Given the description of an element on the screen output the (x, y) to click on. 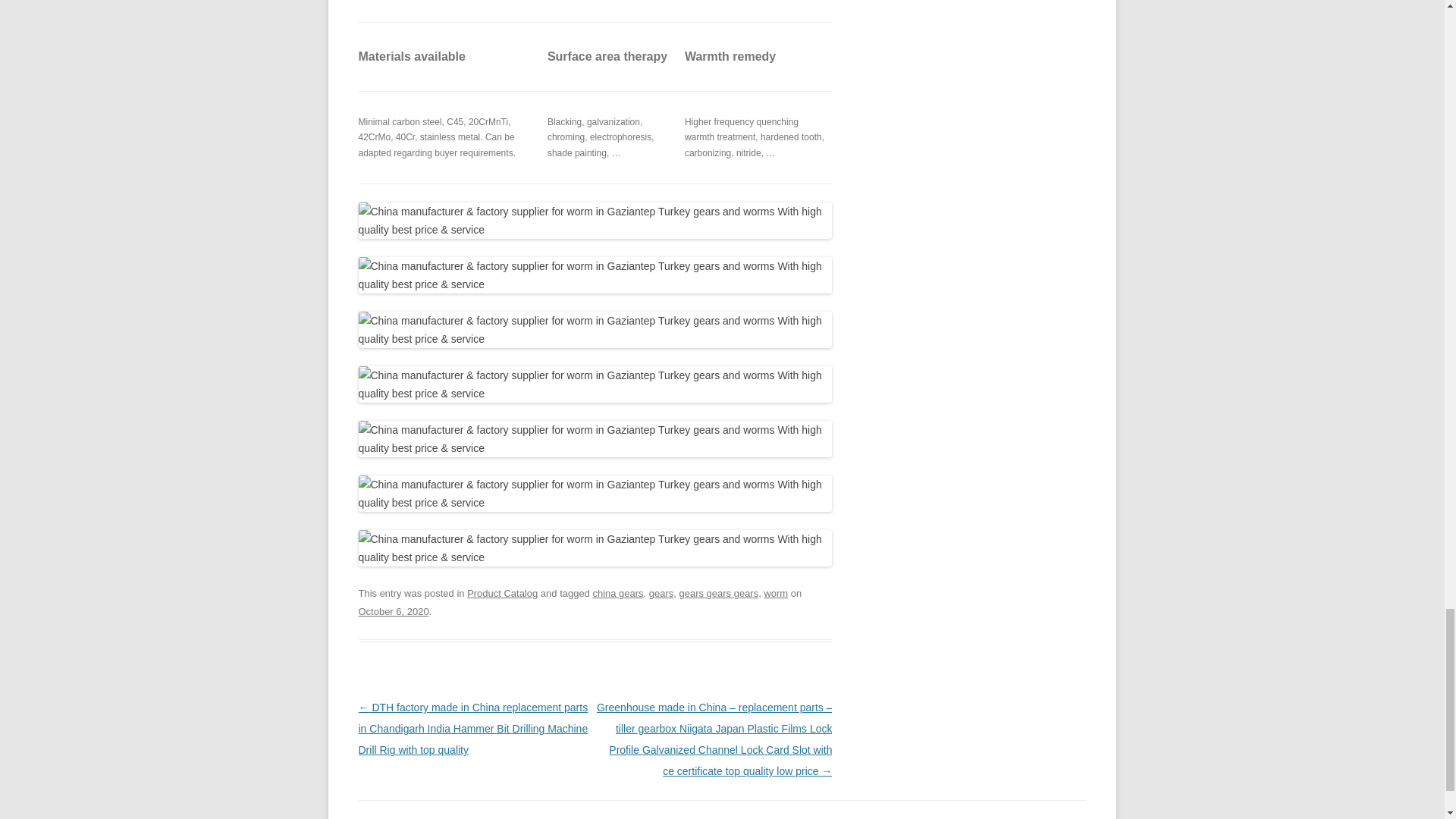
2:42 am (393, 611)
Product Catalog (502, 593)
October 6, 2020 (393, 611)
gears (660, 593)
gears gears gears (718, 593)
worm (774, 593)
china gears (617, 593)
